Given the description of an element on the screen output the (x, y) to click on. 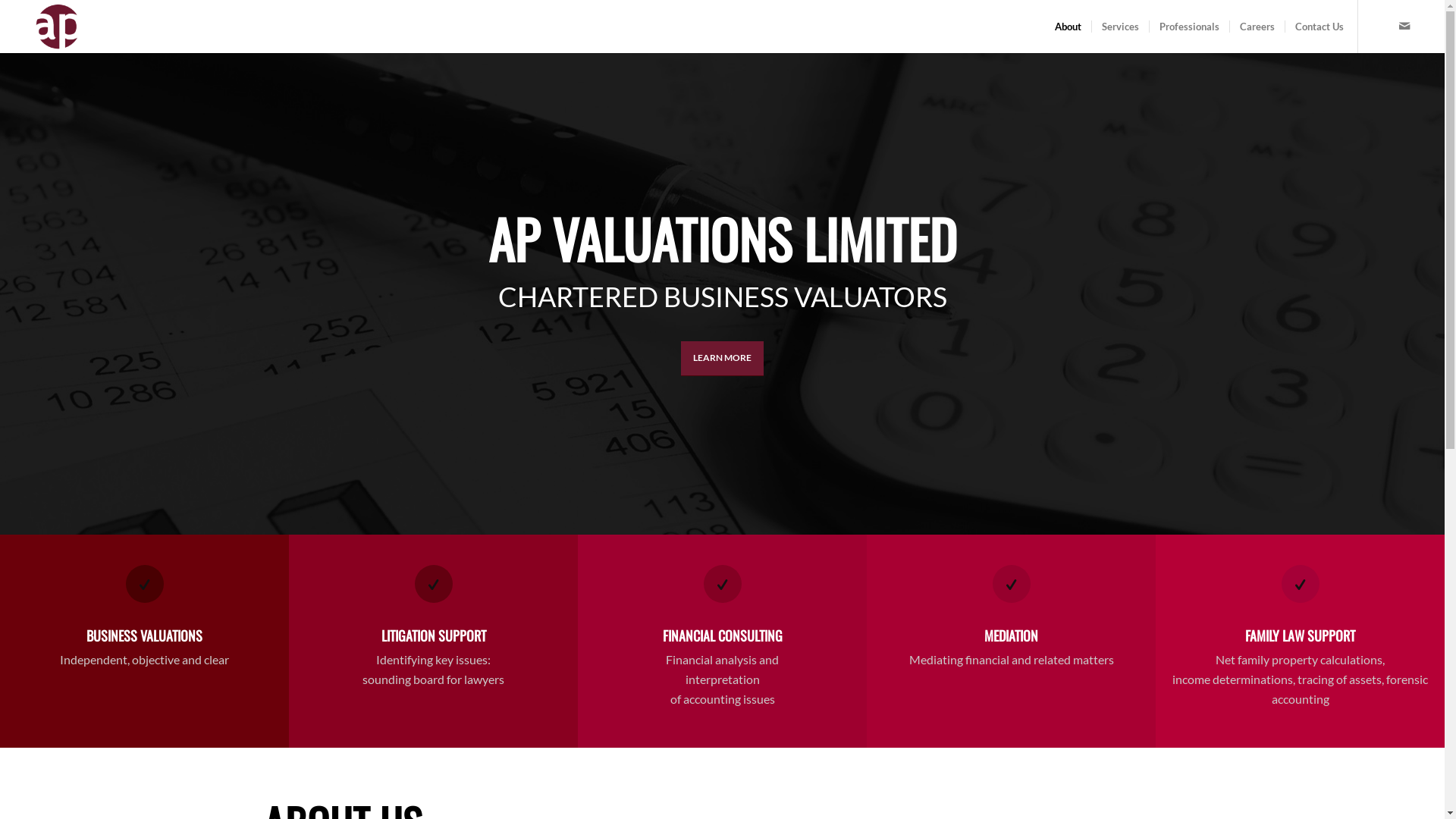
LEARN MORE Element type: text (721, 358)
Mail Element type: hover (1404, 25)
Services Element type: text (1119, 26)
About Element type: text (1067, 26)
LinkedIn Element type: hover (1381, 25)
banner_about Element type: hover (722, 293)
Professionals Element type: text (1188, 26)
Careers Element type: text (1256, 26)
Contact Us Element type: text (1320, 26)
